Given the description of an element on the screen output the (x, y) to click on. 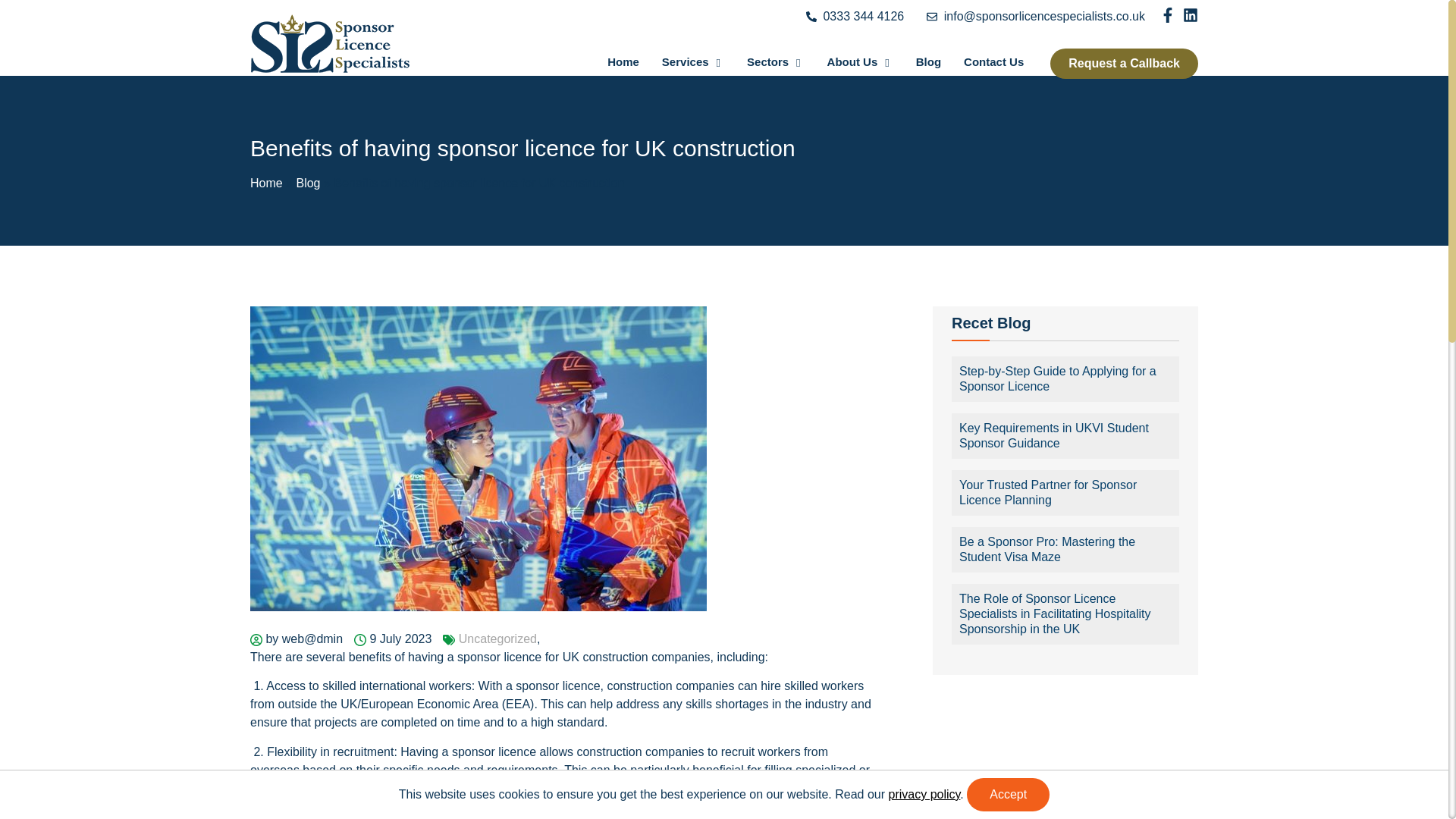
Home (623, 63)
Services (692, 63)
0333 344 4126 (855, 16)
